Given the description of an element on the screen output the (x, y) to click on. 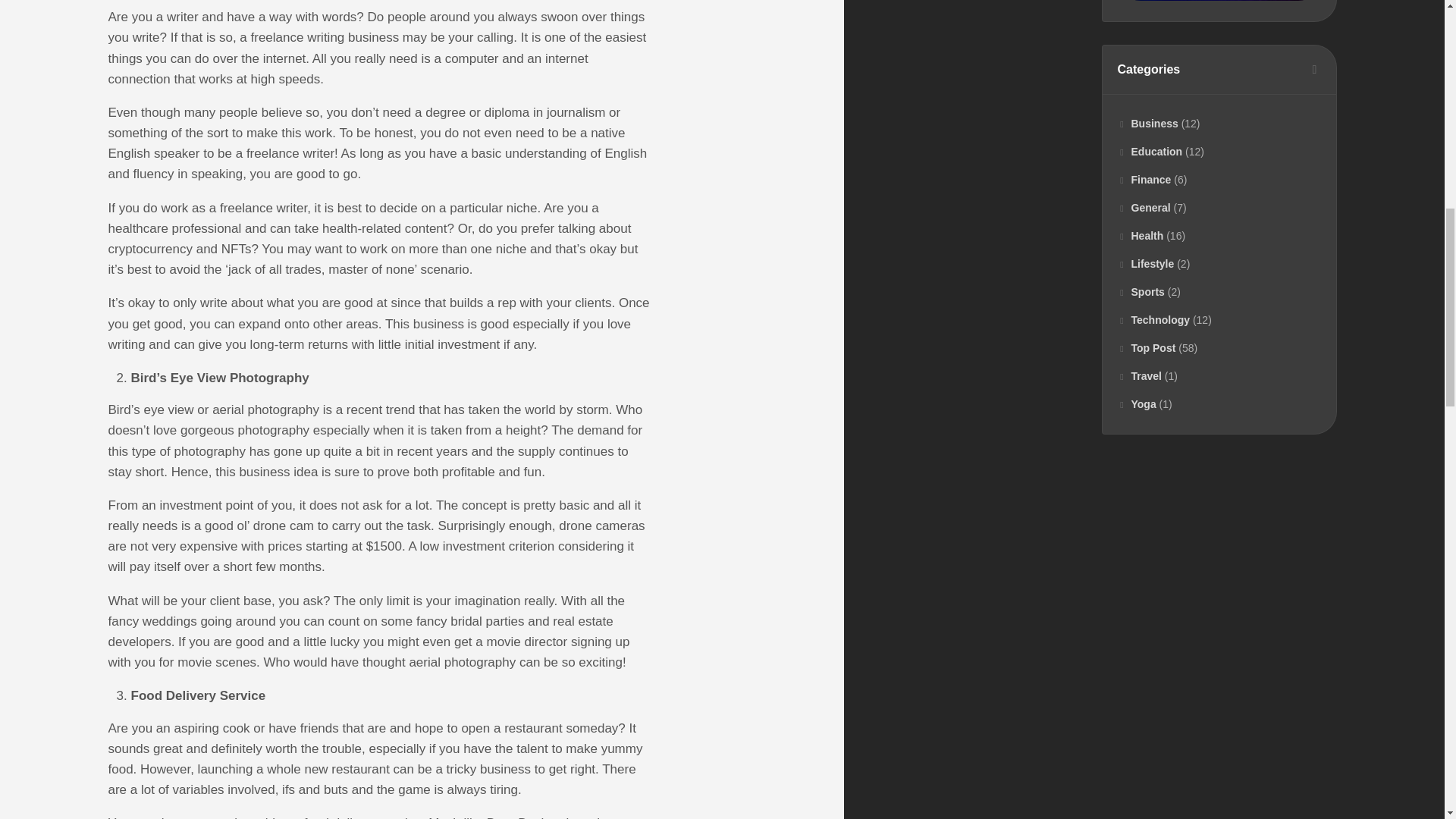
Health (1140, 235)
Technology (1154, 319)
Sports (1141, 291)
Lifestyle (1146, 263)
Top Post (1147, 347)
General (1144, 207)
Education (1150, 151)
Business (1147, 123)
Finance (1145, 179)
